Given the description of an element on the screen output the (x, y) to click on. 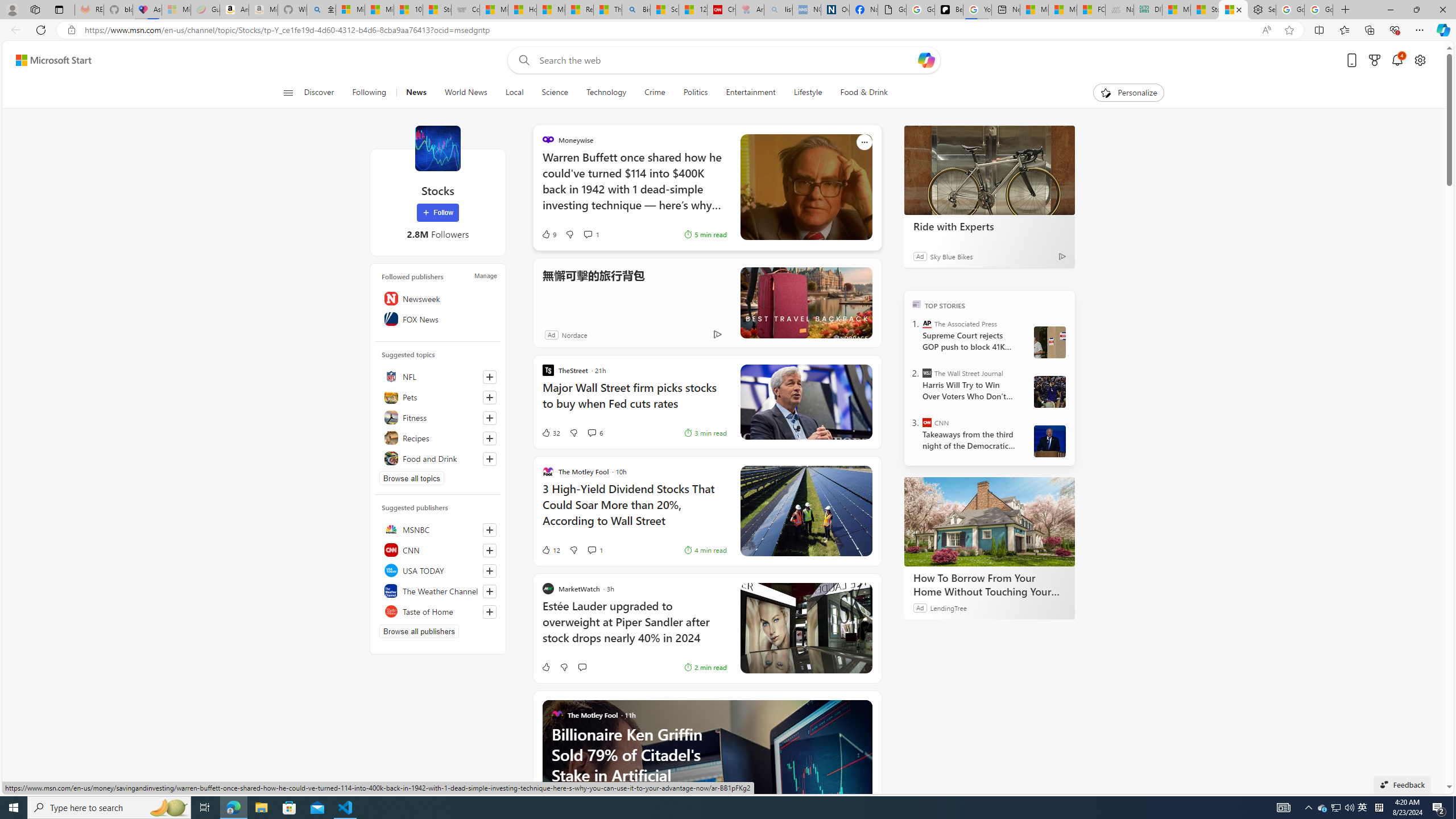
Lifestyle (807, 92)
FOX News (437, 318)
Entertainment (750, 92)
list of asthma inhalers uk - Search - Sleeping (777, 9)
NCL Adult Asthma Inhaler Choice Guideline - Sleeping (806, 9)
Ride with Experts (989, 169)
Discover (323, 92)
Microsoft account | Privacy (349, 9)
